Given the description of an element on the screen output the (x, y) to click on. 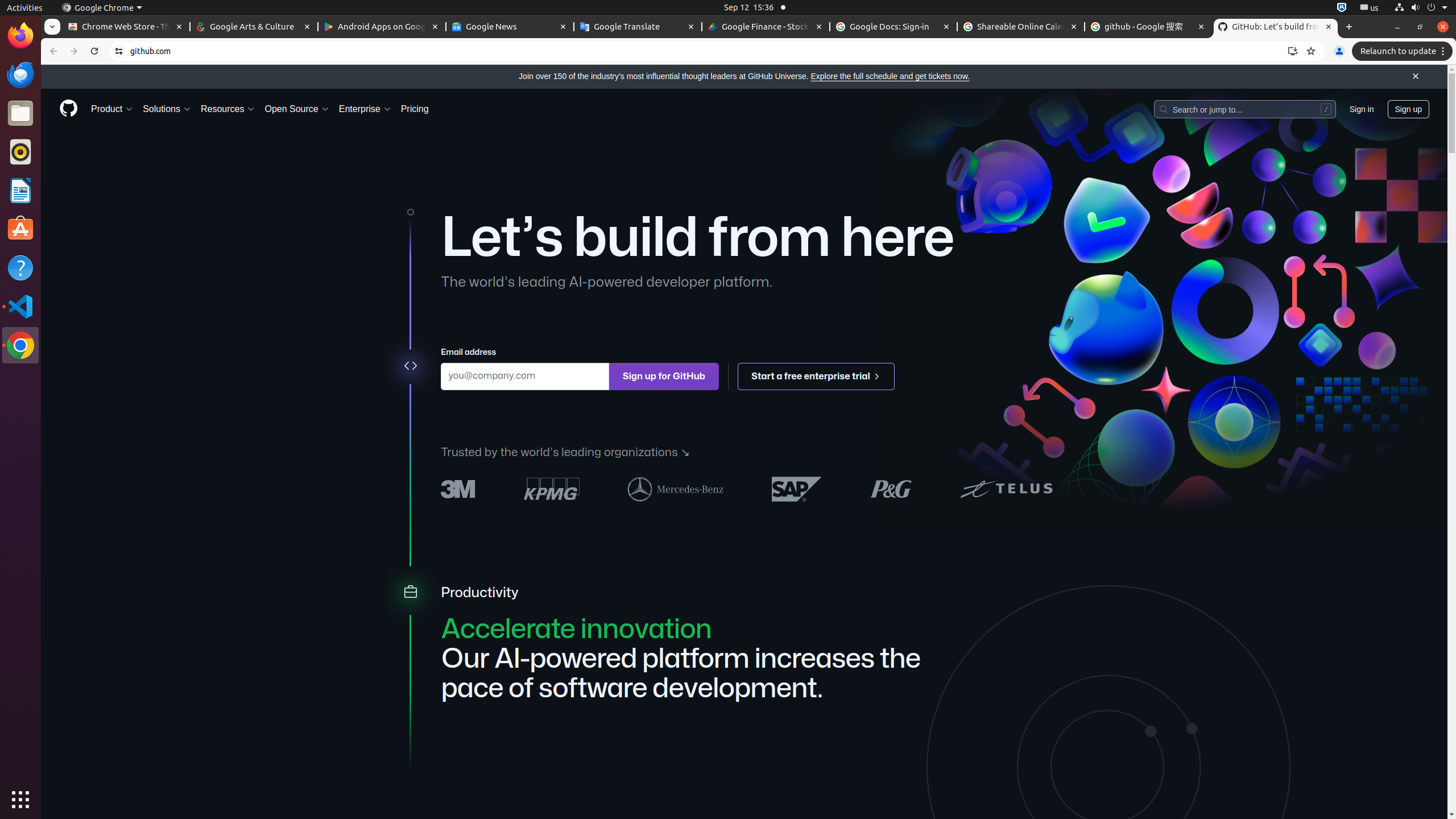
Firefox Web Browser Element type: push-button (20, 35)
Google Arts & Culture - Memory usage - 60.0 MB Element type: page-tab (253, 26)
Shareable Online Calendar and Scheduling - Google Calendar - Memory usage - 88.4 MB Element type: page-tab (1020, 26)
System Element type: menu (1420, 7)
View site information Element type: push-button (118, 51)
